Given the description of an element on the screen output the (x, y) to click on. 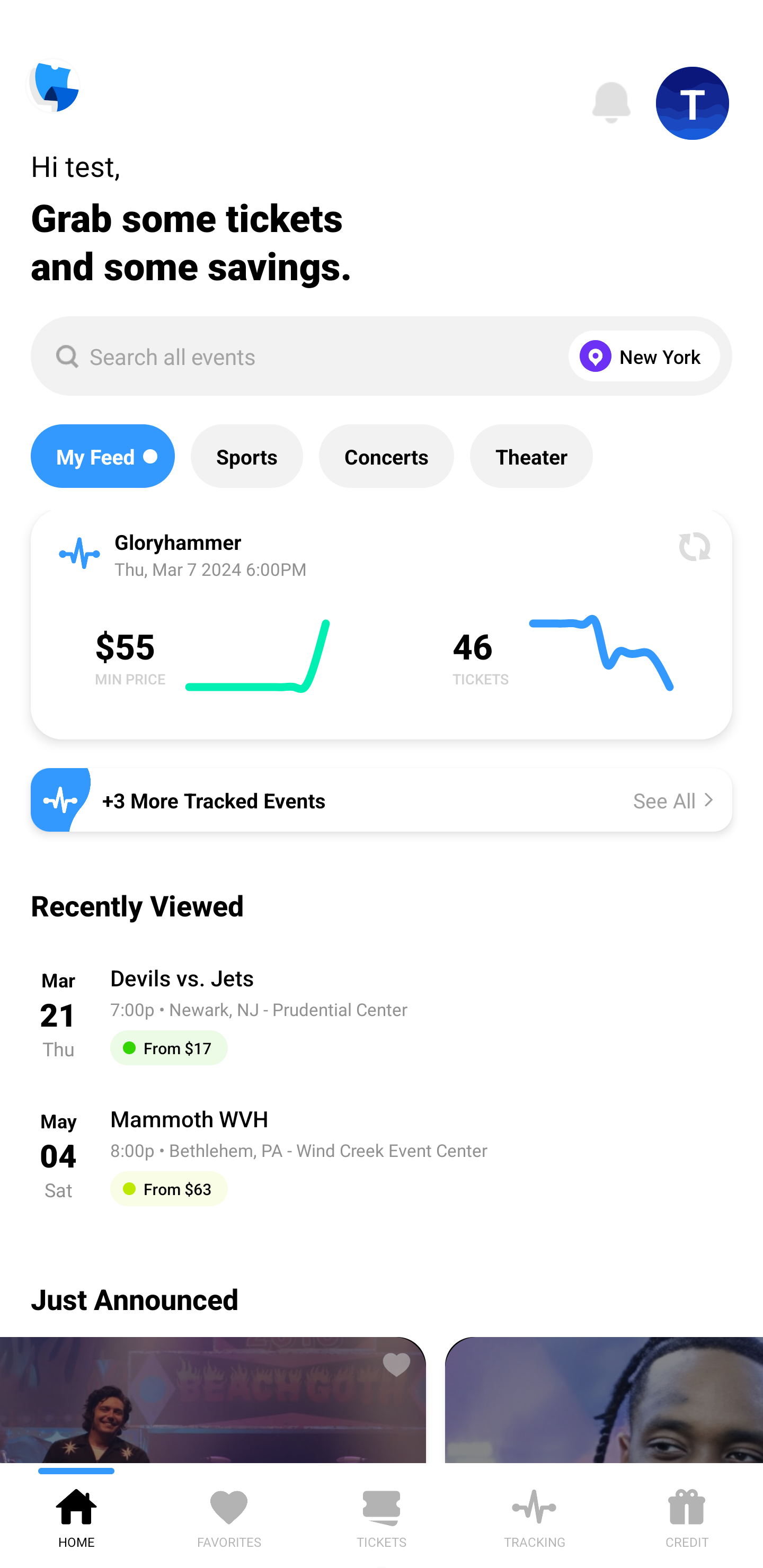
T (692, 103)
New York (640, 355)
My Feed (102, 455)
Sports (246, 455)
Concerts (385, 455)
Theater (531, 455)
HOME (76, 1515)
FAVORITES (228, 1515)
TICKETS (381, 1515)
TRACKING (533, 1515)
CREDIT (686, 1515)
